Given the description of an element on the screen output the (x, y) to click on. 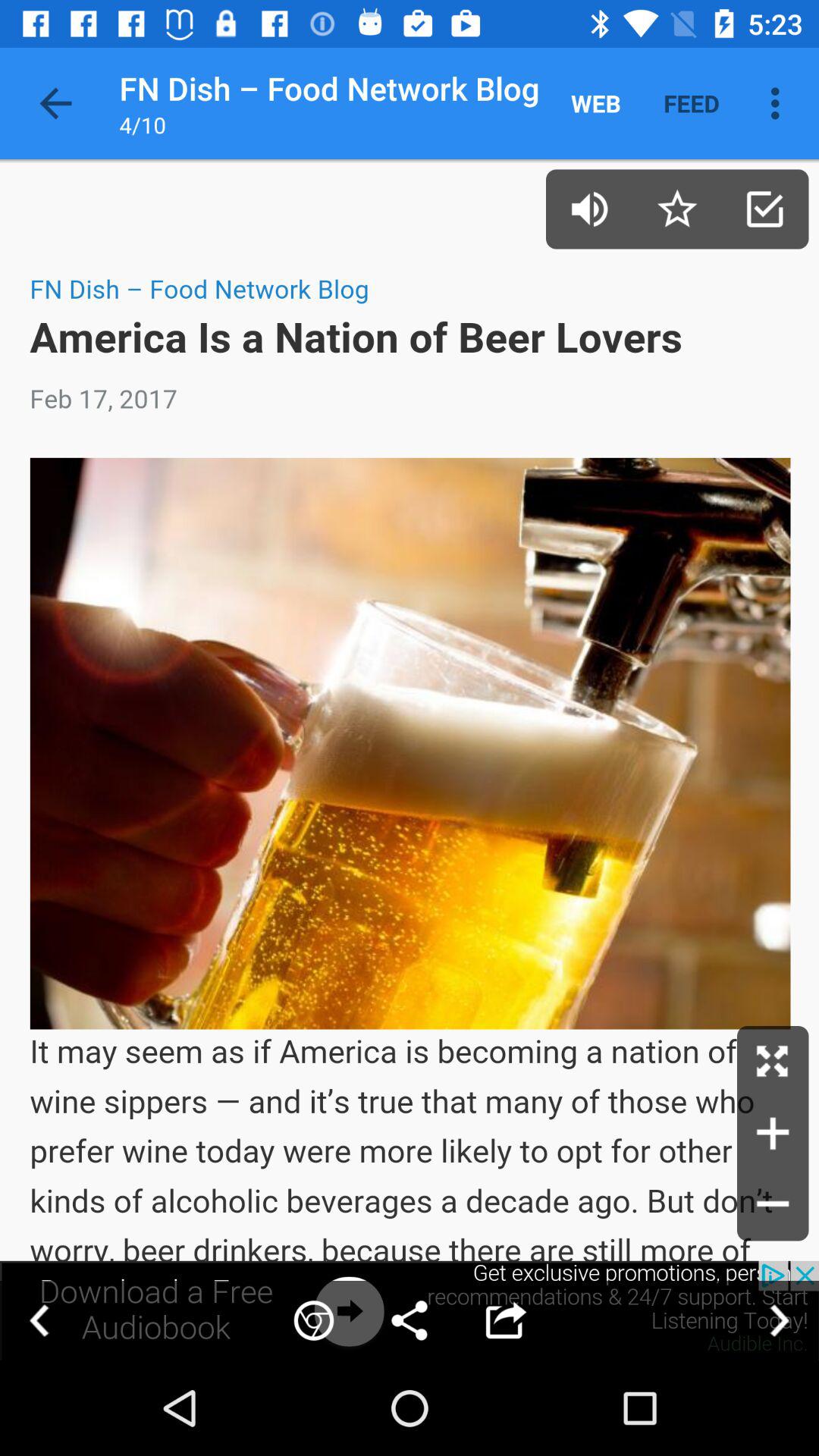
fullu (772, 1061)
